Given the description of an element on the screen output the (x, y) to click on. 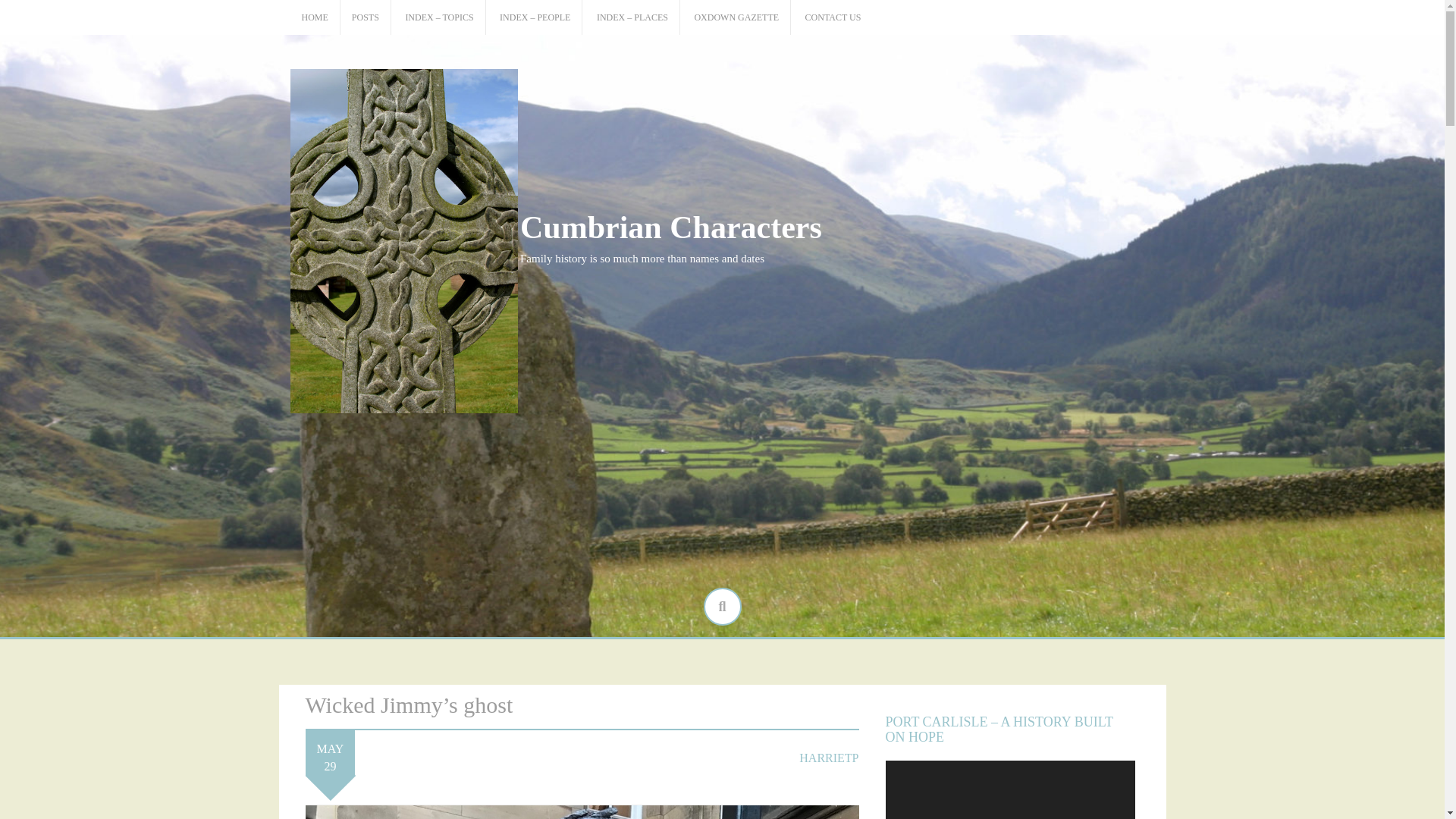
Cumbrian Characters (670, 226)
HOME (315, 17)
OXDOWN GAZETTE (736, 17)
CONTACT US (833, 17)
POSTS (365, 17)
HARRIETP (829, 757)
Search (22, 9)
